Given the description of an element on the screen output the (x, y) to click on. 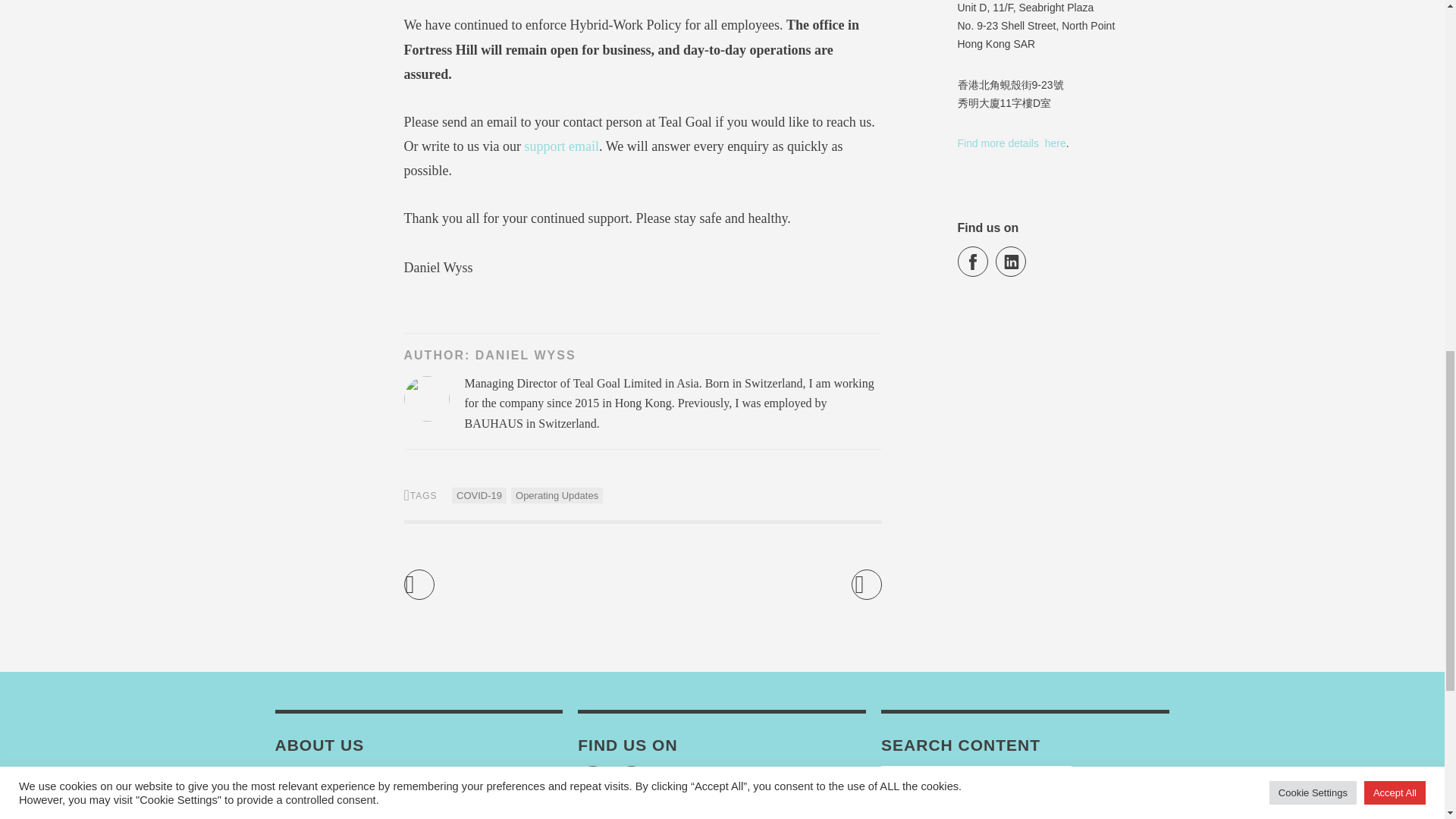
Find more details  here (1010, 143)
Search (1123, 780)
DANIEL WYSS (526, 354)
Search (1123, 780)
Facebook (593, 780)
support email (559, 145)
Operating Updates (556, 495)
LinkedIn (630, 780)
COVID-19 (478, 495)
Facebook (593, 780)
Facebook (971, 261)
LinkedIn (1010, 261)
Daniel Wyss (526, 354)
Facebook (971, 261)
LinkedIn (1010, 261)
